Given the description of an element on the screen output the (x, y) to click on. 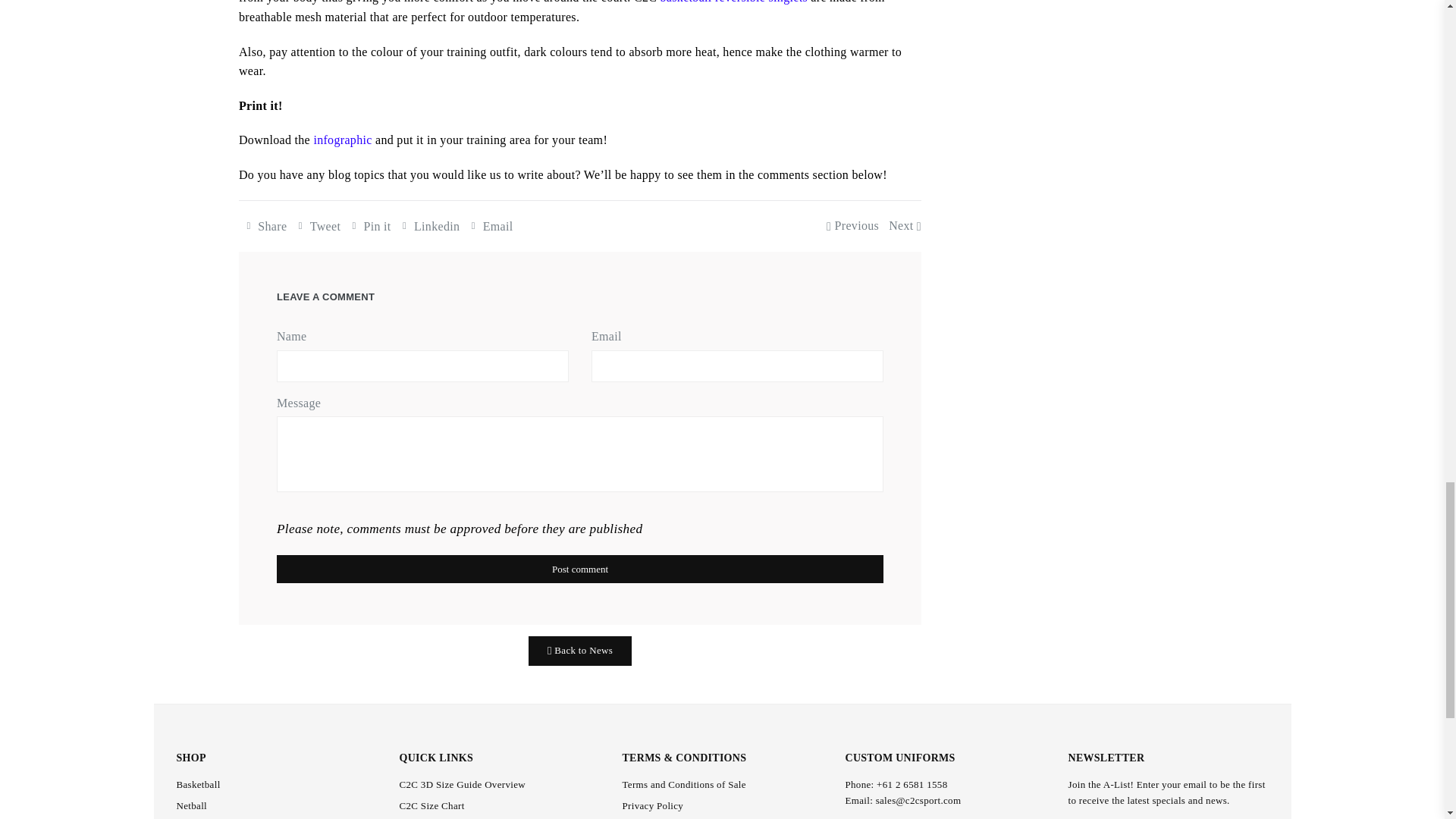
Share on Facebook (263, 226)
Tweet on Twitter (316, 226)
Share on Linkedin (429, 226)
Summer Tips for Players Infographic (344, 140)
Share by Email (489, 226)
Post comment (579, 569)
Pin on Pinterest (368, 226)
